Given the description of an element on the screen output the (x, y) to click on. 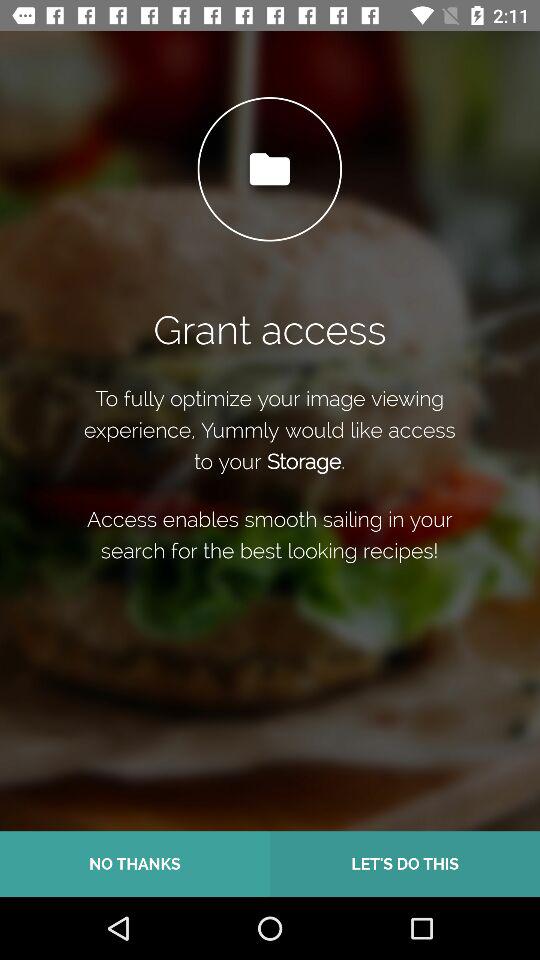
turn on icon at the bottom right corner (405, 863)
